Given the description of an element on the screen output the (x, y) to click on. 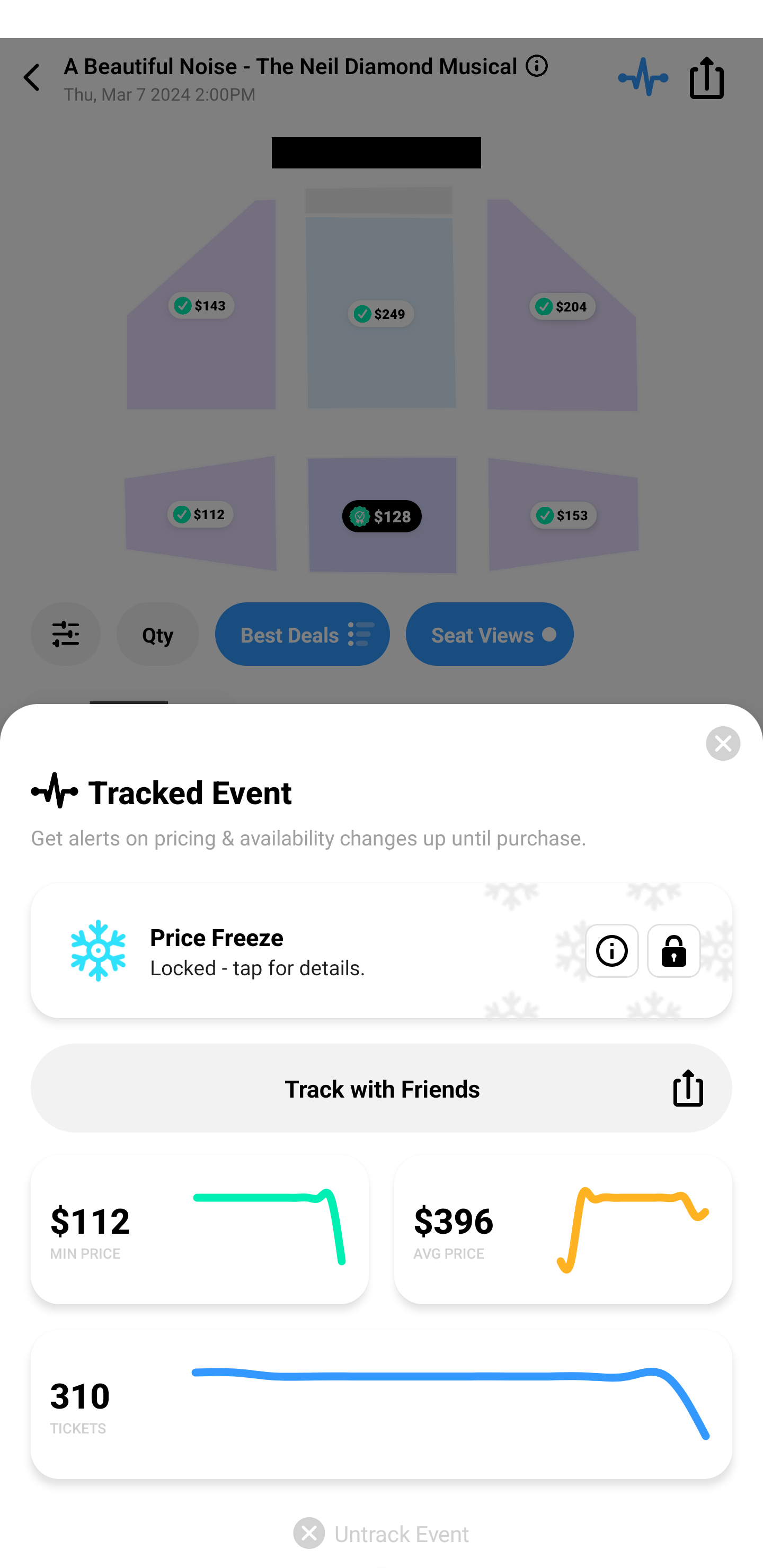
Track with Friends (381, 1088)
Untrack Event (381, 1533)
